Given the description of an element on the screen output the (x, y) to click on. 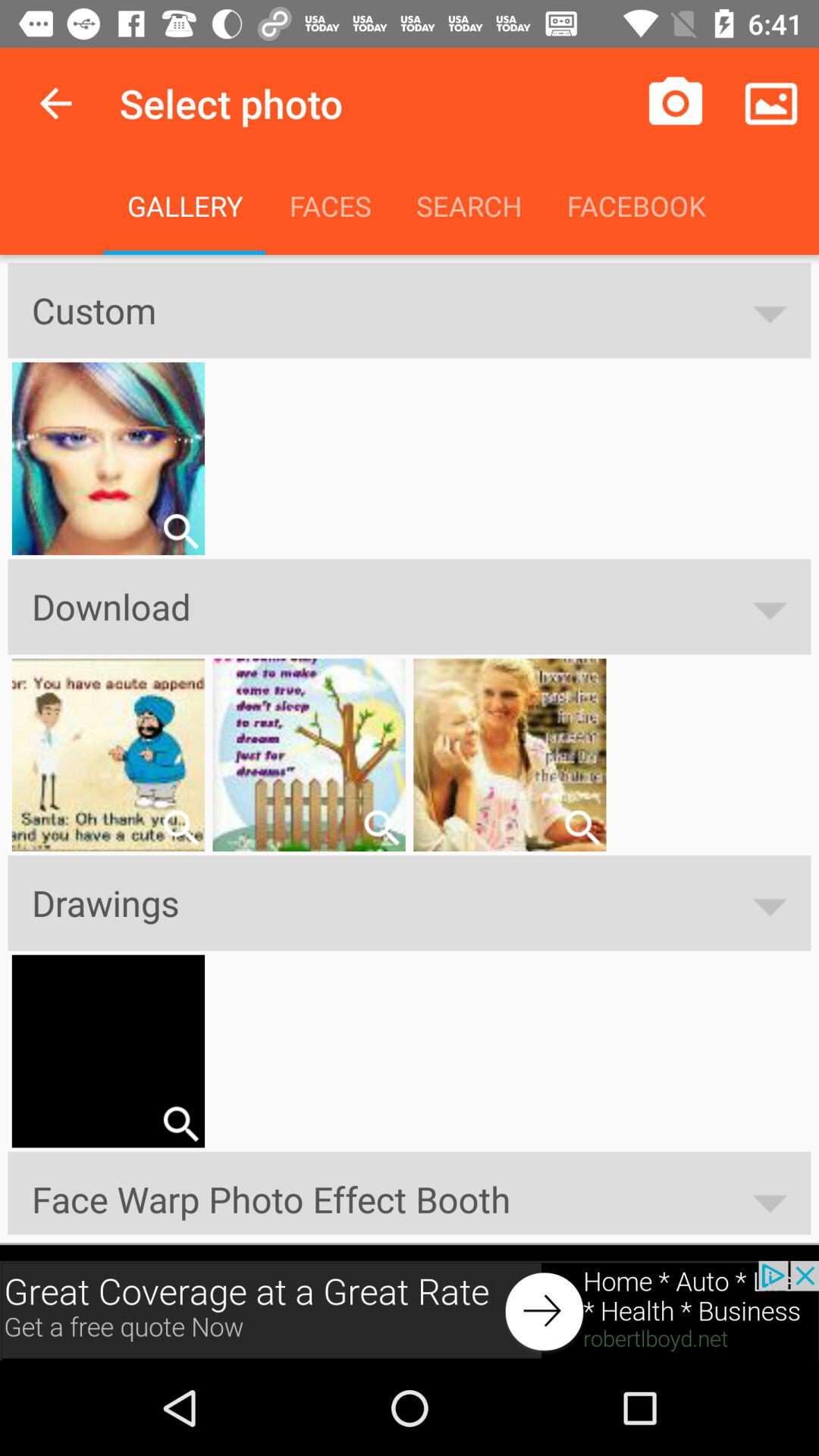
search for photo (582, 827)
